Given the description of an element on the screen output the (x, y) to click on. 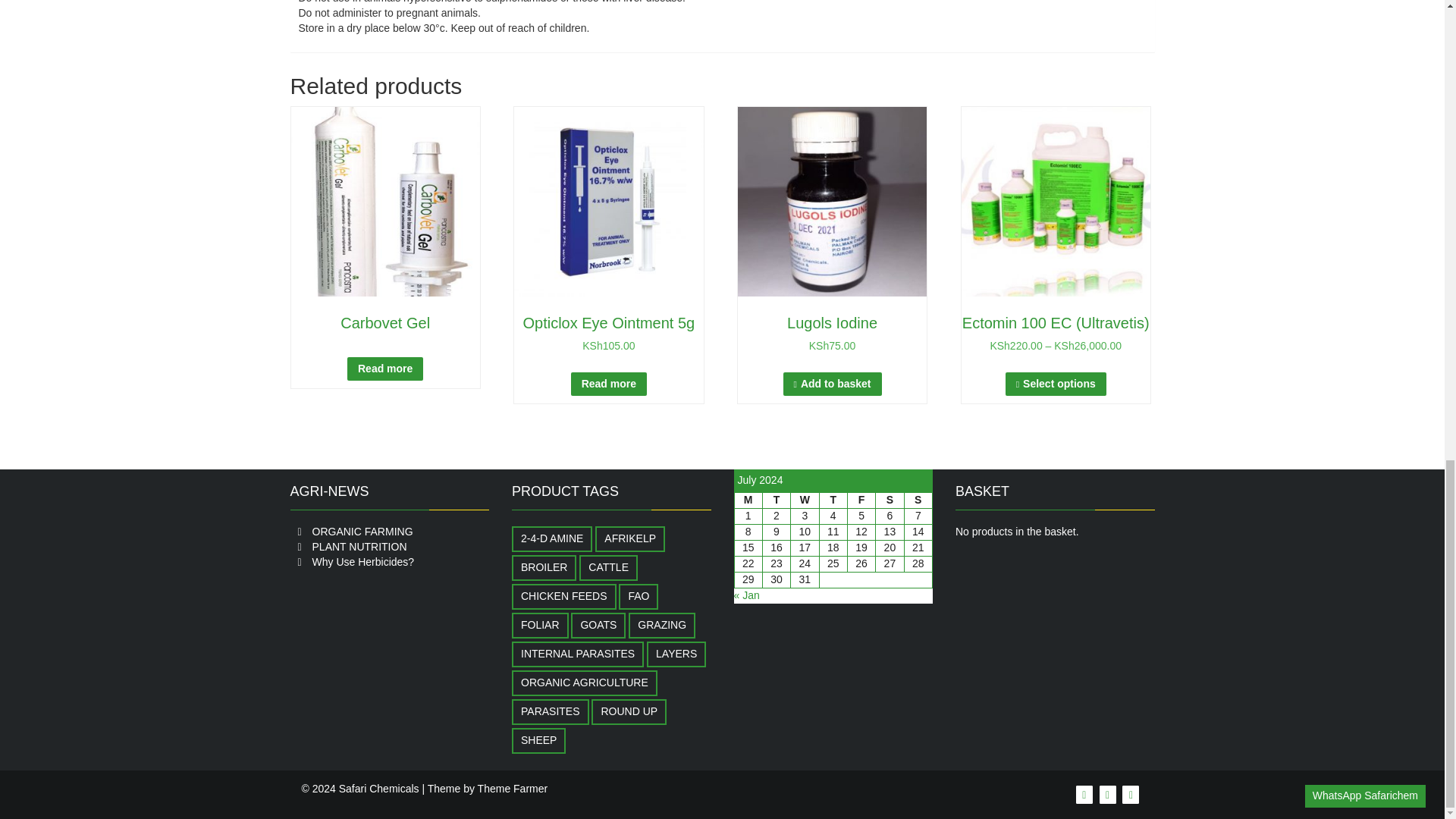
Saturday (890, 499)
Read more (385, 368)
Tuesday (775, 499)
Add to basket (832, 383)
Friday (861, 499)
Wednesday (804, 499)
Thursday (832, 499)
Monday (747, 499)
Read more (608, 383)
Sunday (917, 499)
